Given the description of an element on the screen output the (x, y) to click on. 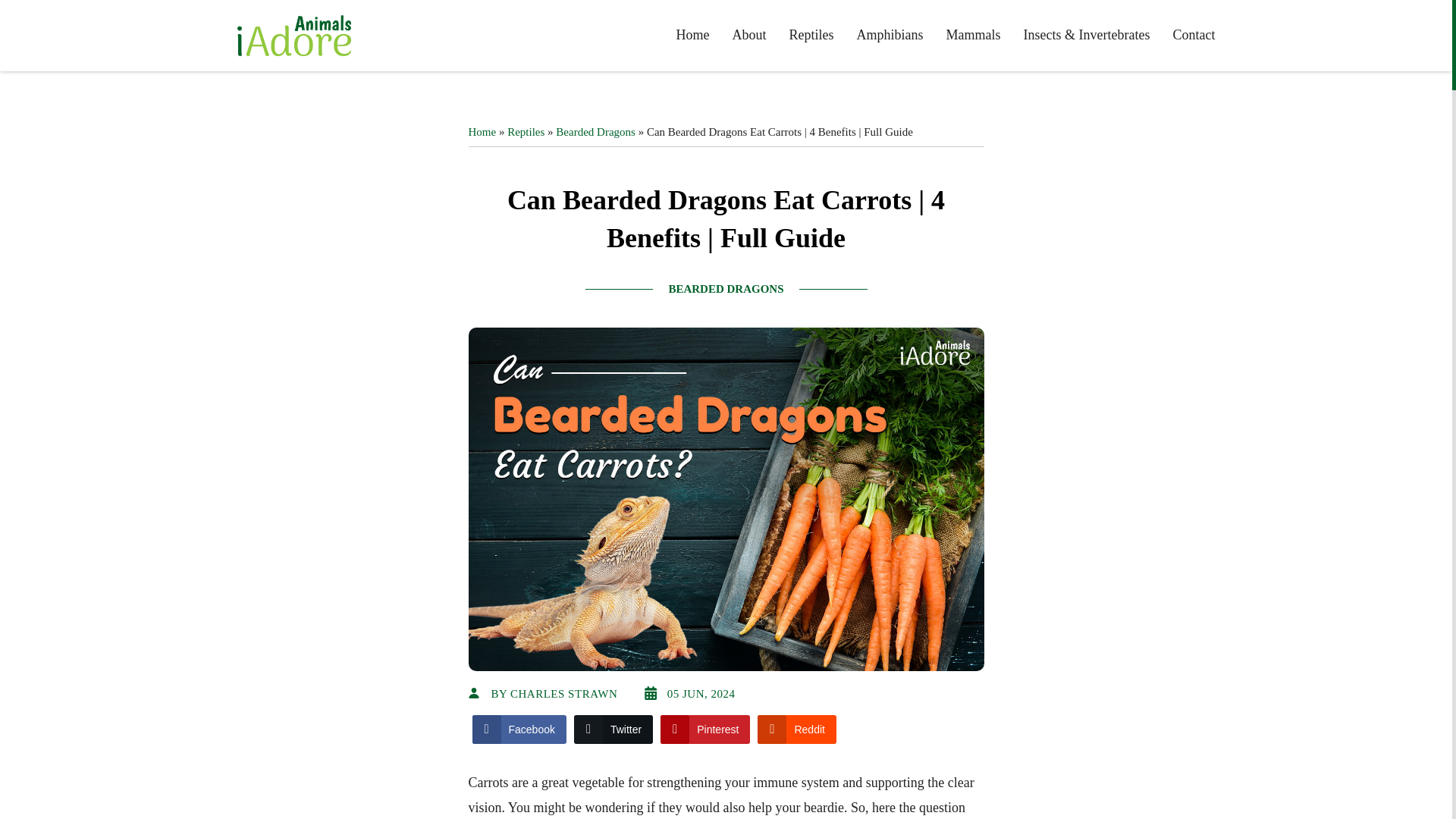
About (749, 35)
Reptiles (811, 35)
Home (693, 35)
Amphibians (890, 35)
Mammals (973, 35)
